Given the description of an element on the screen output the (x, y) to click on. 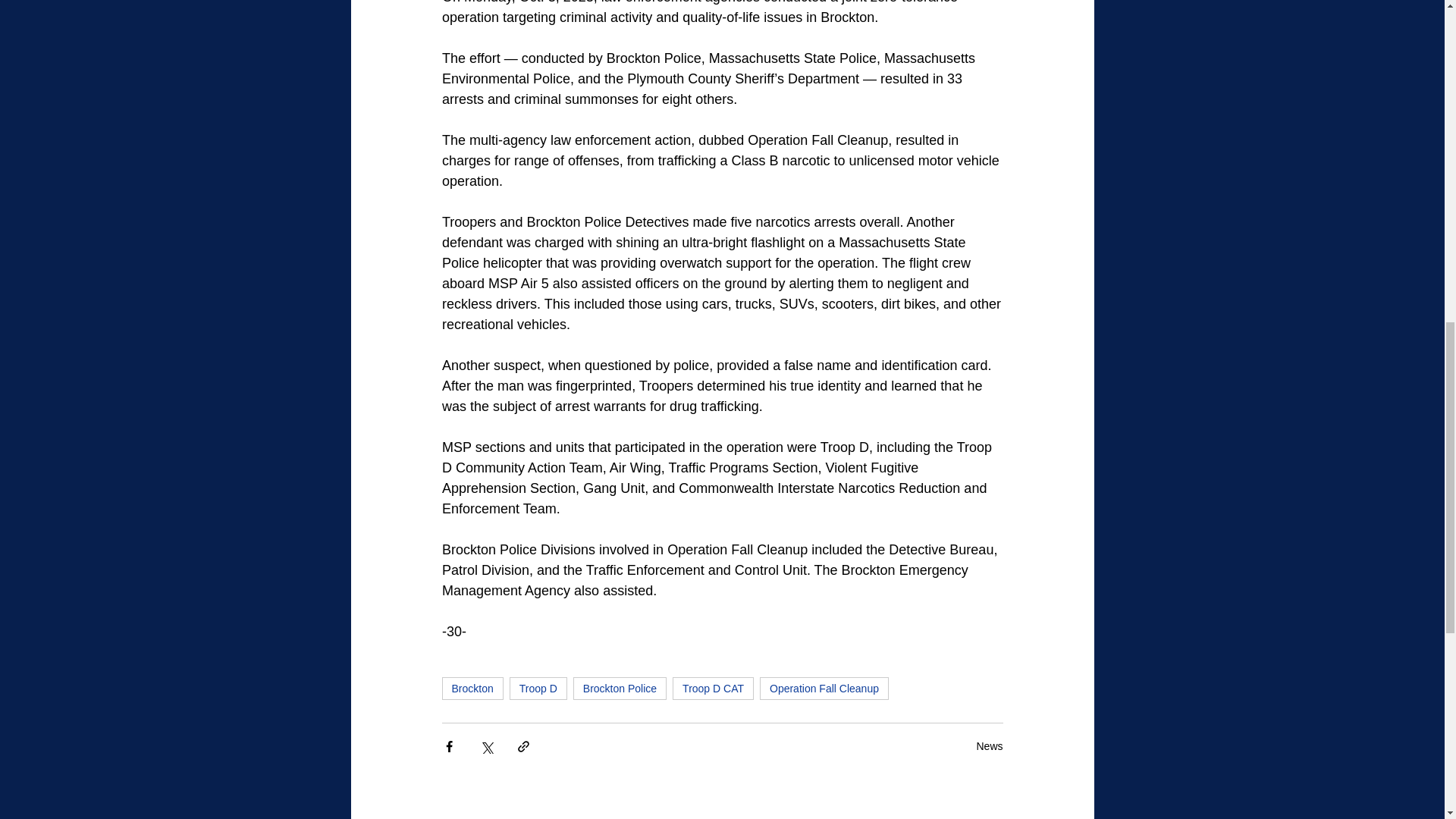
Brockton (471, 688)
News (989, 746)
Operation Fall Cleanup (824, 688)
Troop D CAT (713, 688)
Troop D (538, 688)
Brockton Police (619, 688)
